Given the description of an element on the screen output the (x, y) to click on. 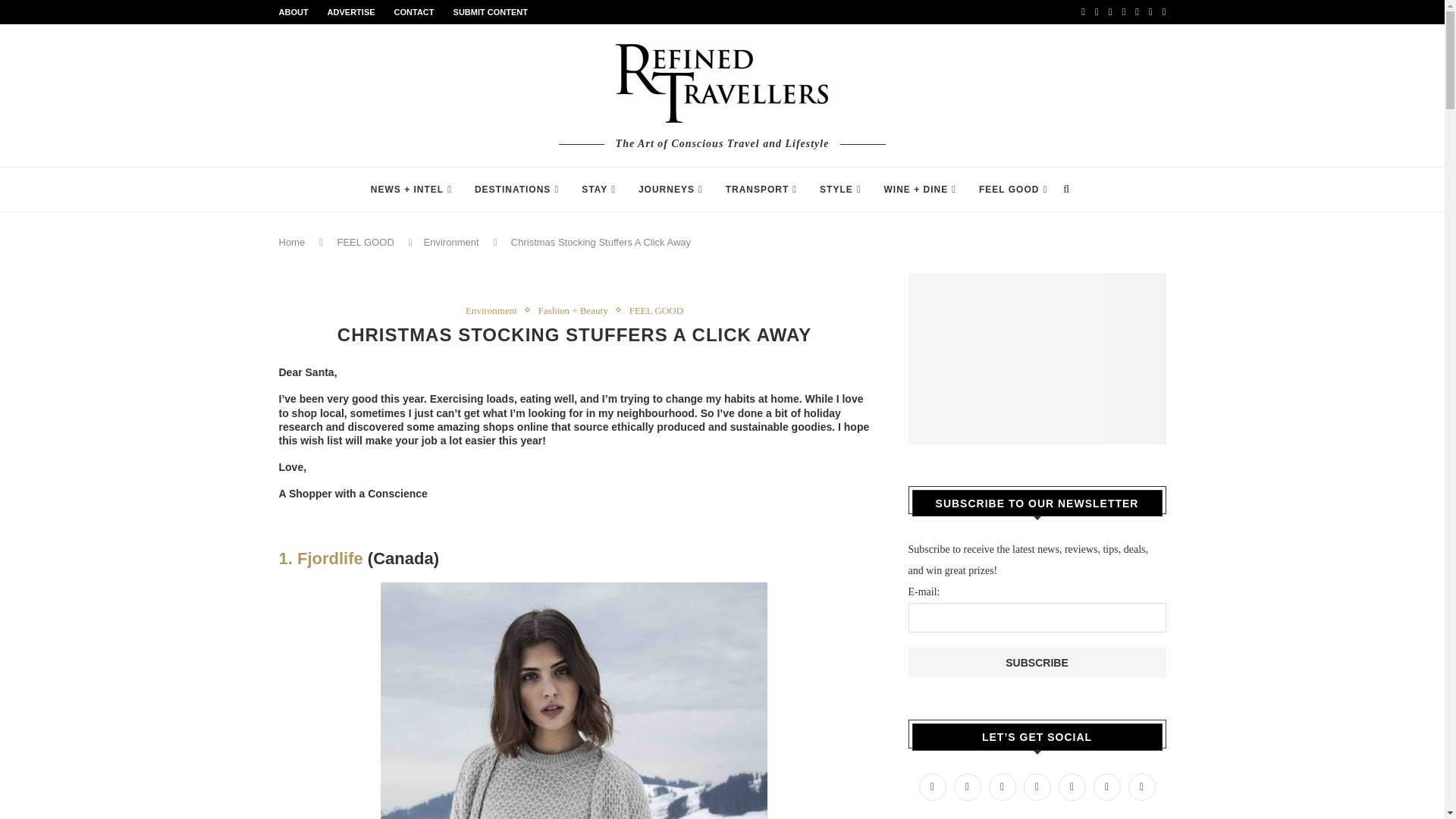
Subscribe (1037, 662)
